Given the description of an element on the screen output the (x, y) to click on. 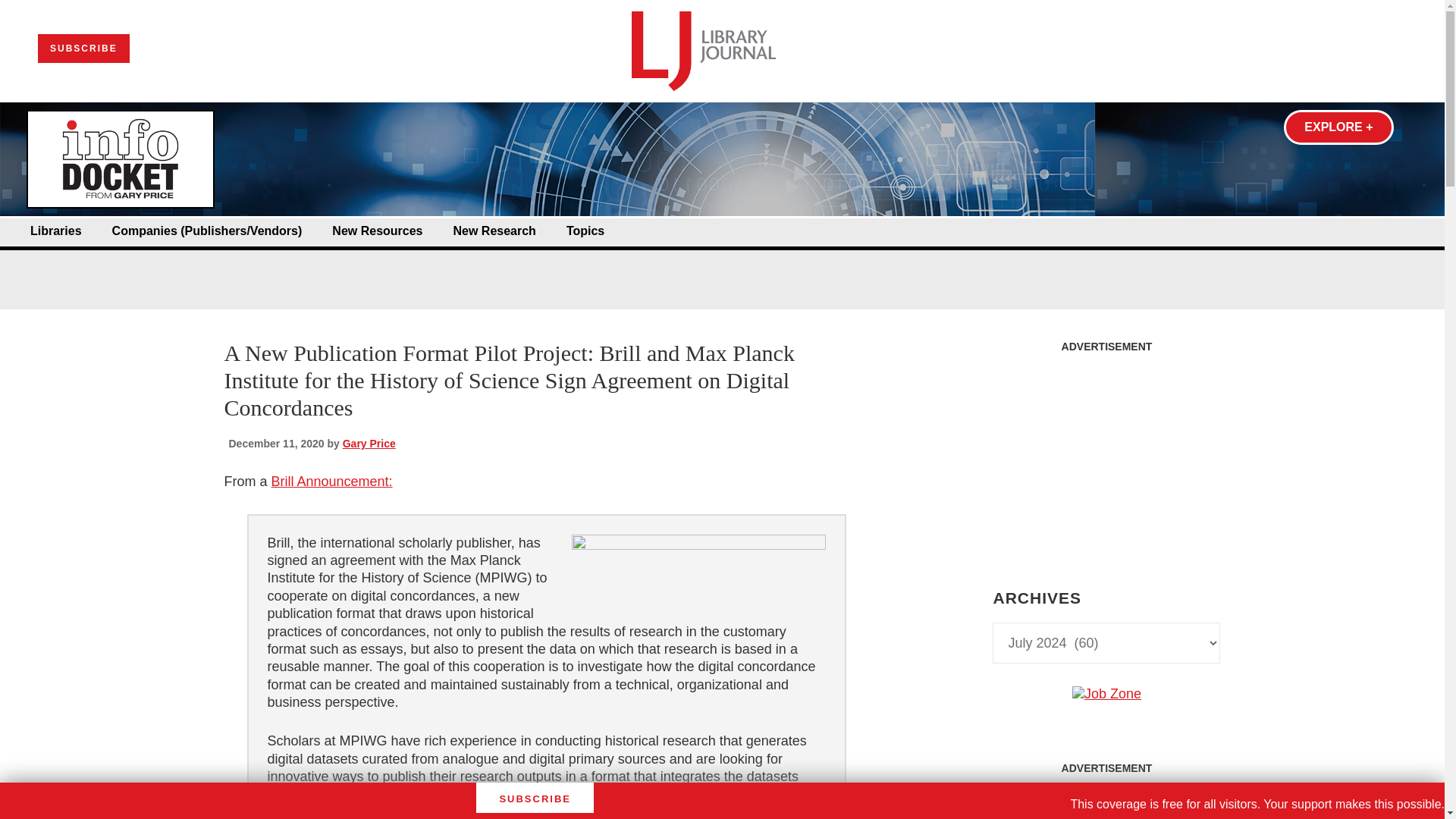
SUBSCRIBE (83, 48)
3rd party ad content (1106, 455)
Libraries (55, 231)
3rd party ad content (1106, 800)
New Resources (376, 231)
3rd party ad content (721, 264)
